Given the description of an element on the screen output the (x, y) to click on. 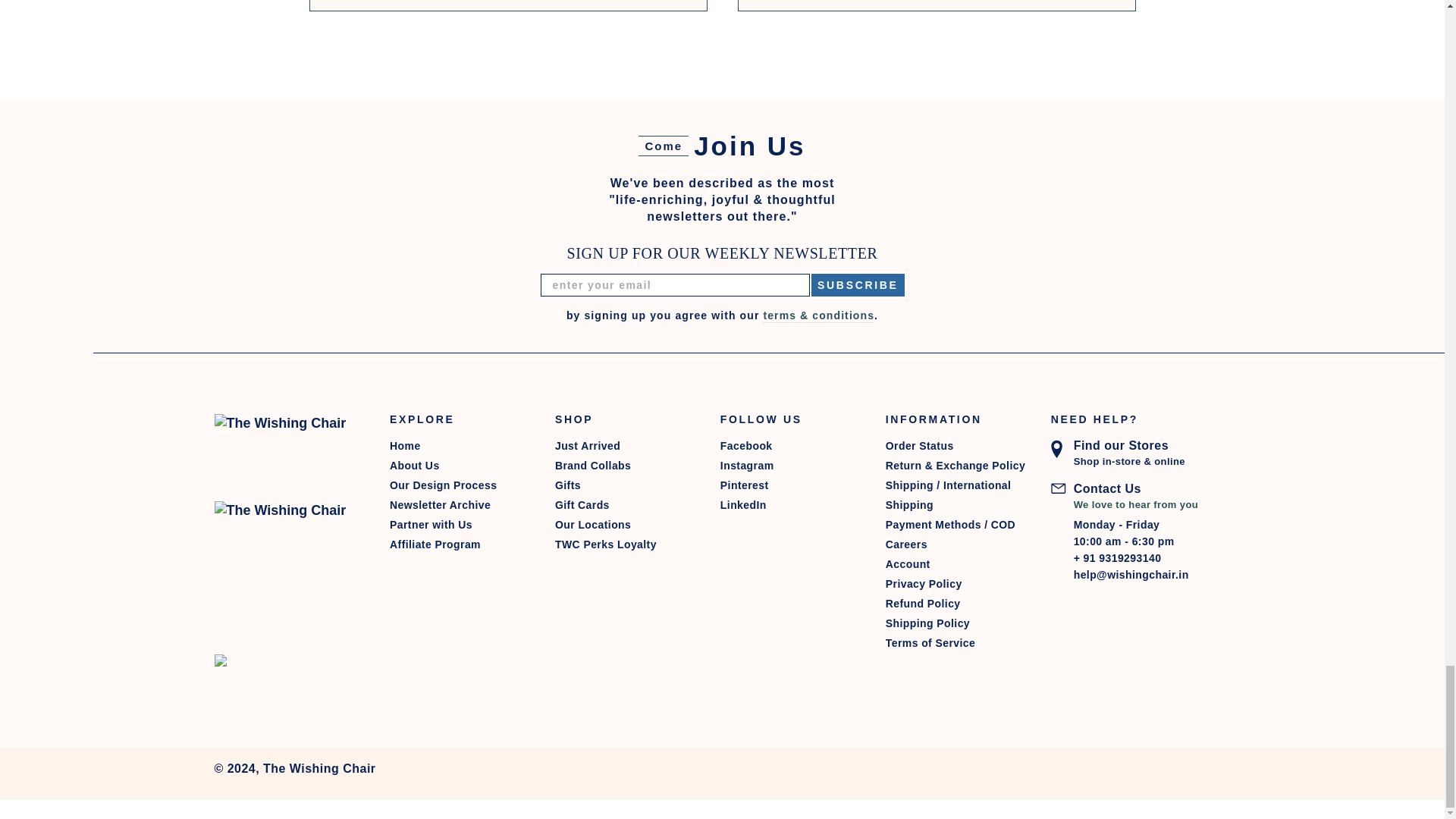
The Wishing Chair on Instagram (788, 465)
The Wishing Chair on LinkedIn (788, 505)
The Wishing Chair on Pinterest (788, 485)
The Wishing Chair on Facebook (788, 445)
